Given the description of an element on the screen output the (x, y) to click on. 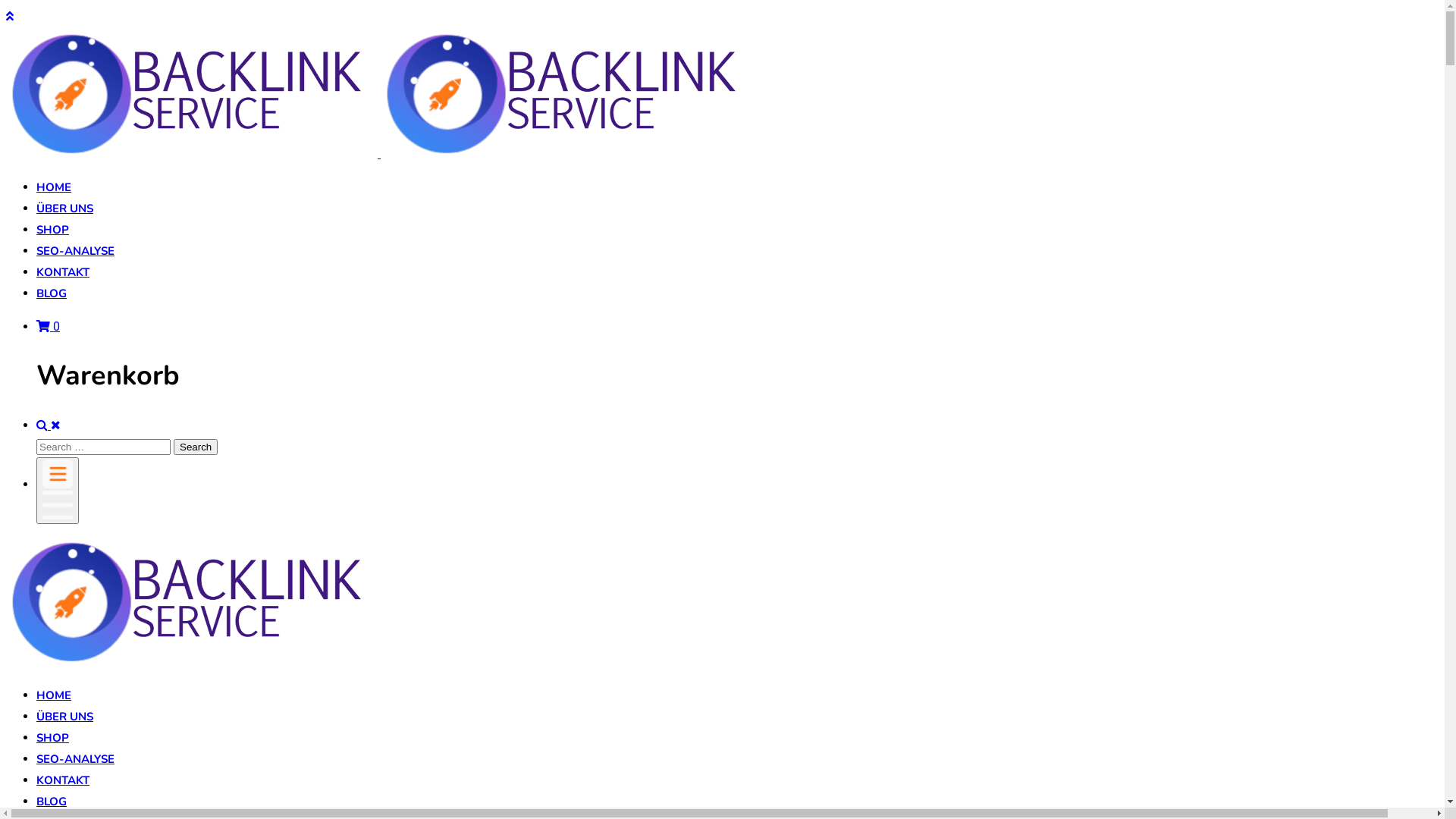
BLOG Element type: text (51, 293)
SEO-ANALYSE Element type: text (75, 758)
SHOP Element type: text (52, 229)
BLOG Element type: text (51, 801)
HOME Element type: text (53, 694)
KONTAKT Element type: text (62, 779)
Search Element type: hover (55, 424)
KONTAKT Element type: text (62, 271)
0 Element type: text (47, 326)
Search Element type: hover (43, 424)
HOME Element type: text (53, 186)
SHOP Element type: text (52, 737)
Search Element type: text (195, 447)
SEO-ANALYSE Element type: text (75, 250)
